Given the description of an element on the screen output the (x, y) to click on. 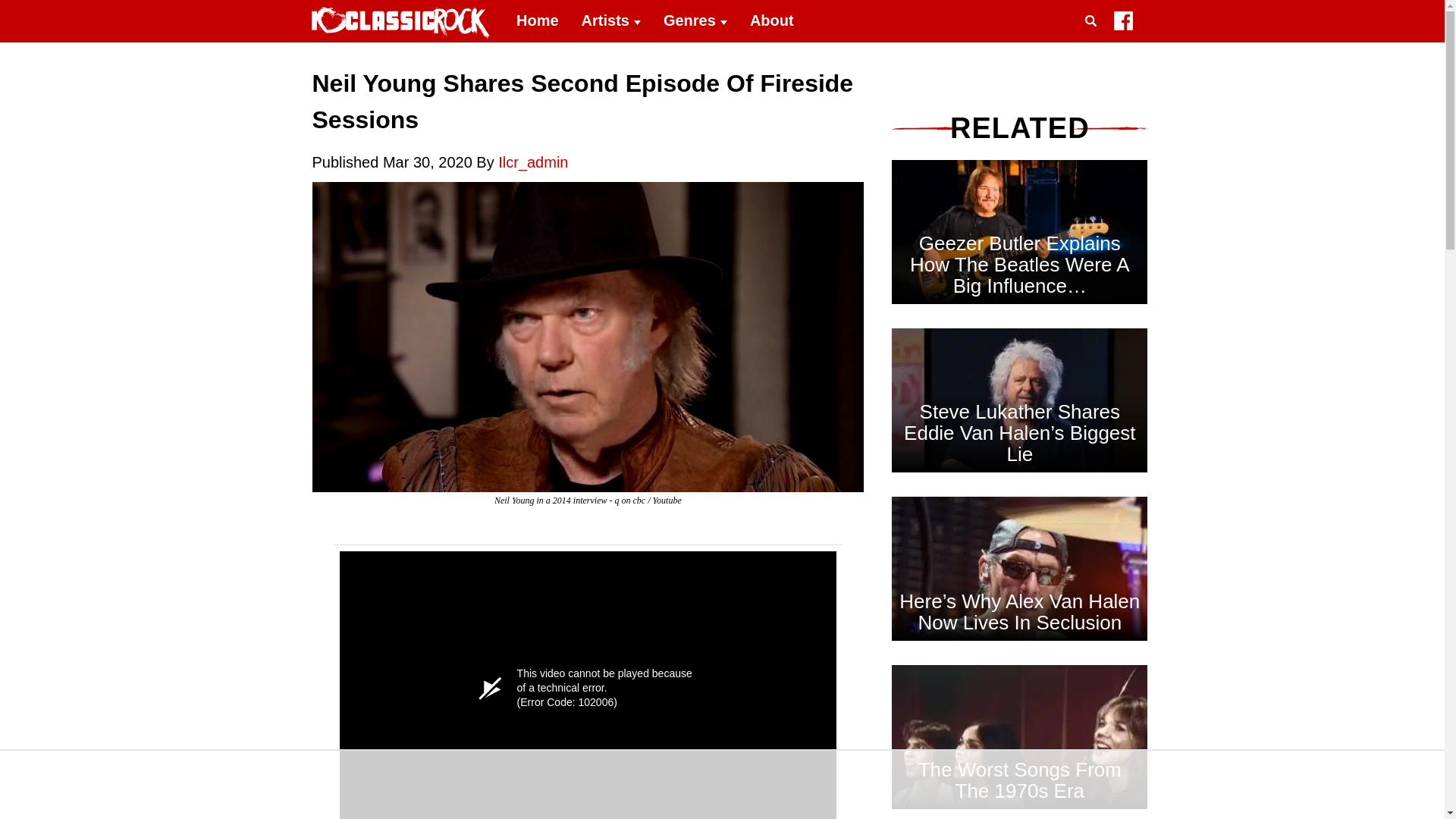
Search (1093, 39)
I Love Classic Rock on Facebook (1122, 24)
Genres (695, 21)
Home (537, 21)
Search (1093, 39)
About (771, 21)
Artists (611, 21)
